Given the description of an element on the screen output the (x, y) to click on. 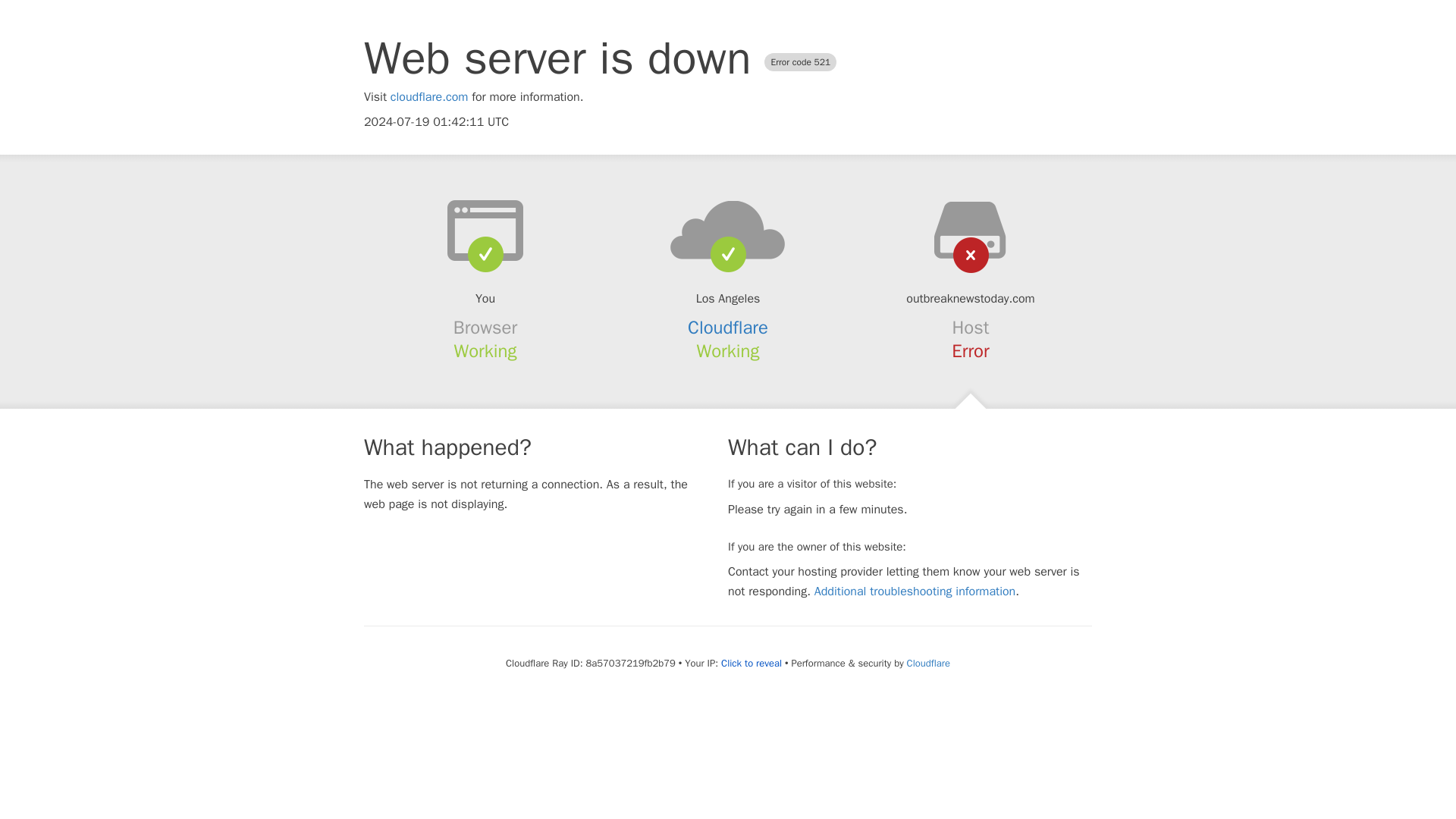
Additional troubleshooting information (913, 590)
Click to reveal (750, 663)
Cloudflare (727, 327)
Cloudflare (928, 662)
cloudflare.com (429, 96)
